Given the description of an element on the screen output the (x, y) to click on. 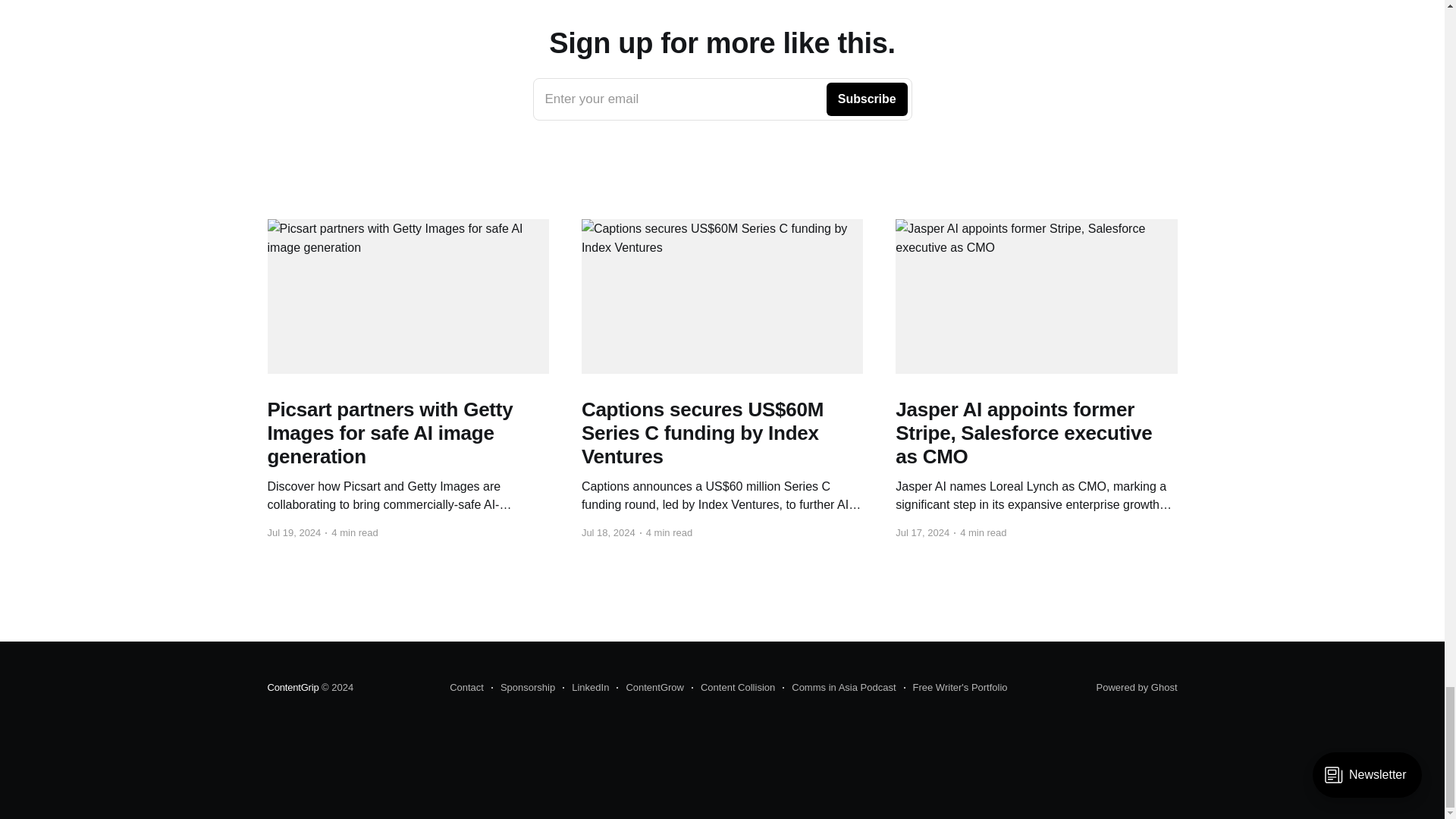
Content Collision (732, 687)
Comms in Asia Podcast (839, 687)
LinkedIn (585, 687)
Contact (721, 98)
ContentGrip (466, 687)
ContentGrow (292, 686)
Sponsorship (649, 687)
